Given the description of an element on the screen output the (x, y) to click on. 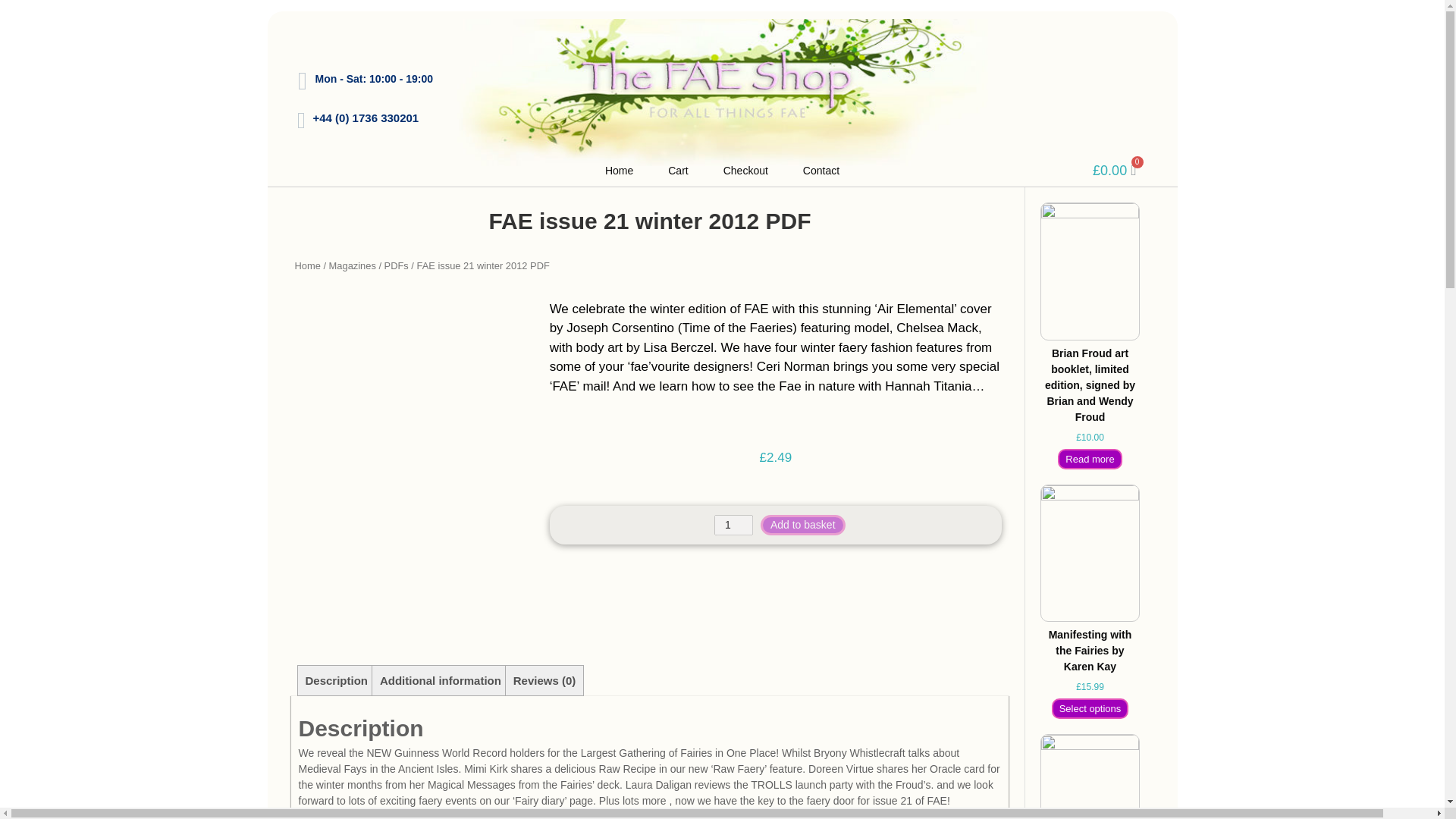
Cart (677, 170)
Home (307, 265)
Contact (820, 170)
Additional information (440, 680)
Description (336, 680)
Magazines (352, 265)
PDFs (396, 265)
Checkout (745, 170)
Home (619, 170)
1 (733, 525)
Add to basket (802, 525)
